Given the description of an element on the screen output the (x, y) to click on. 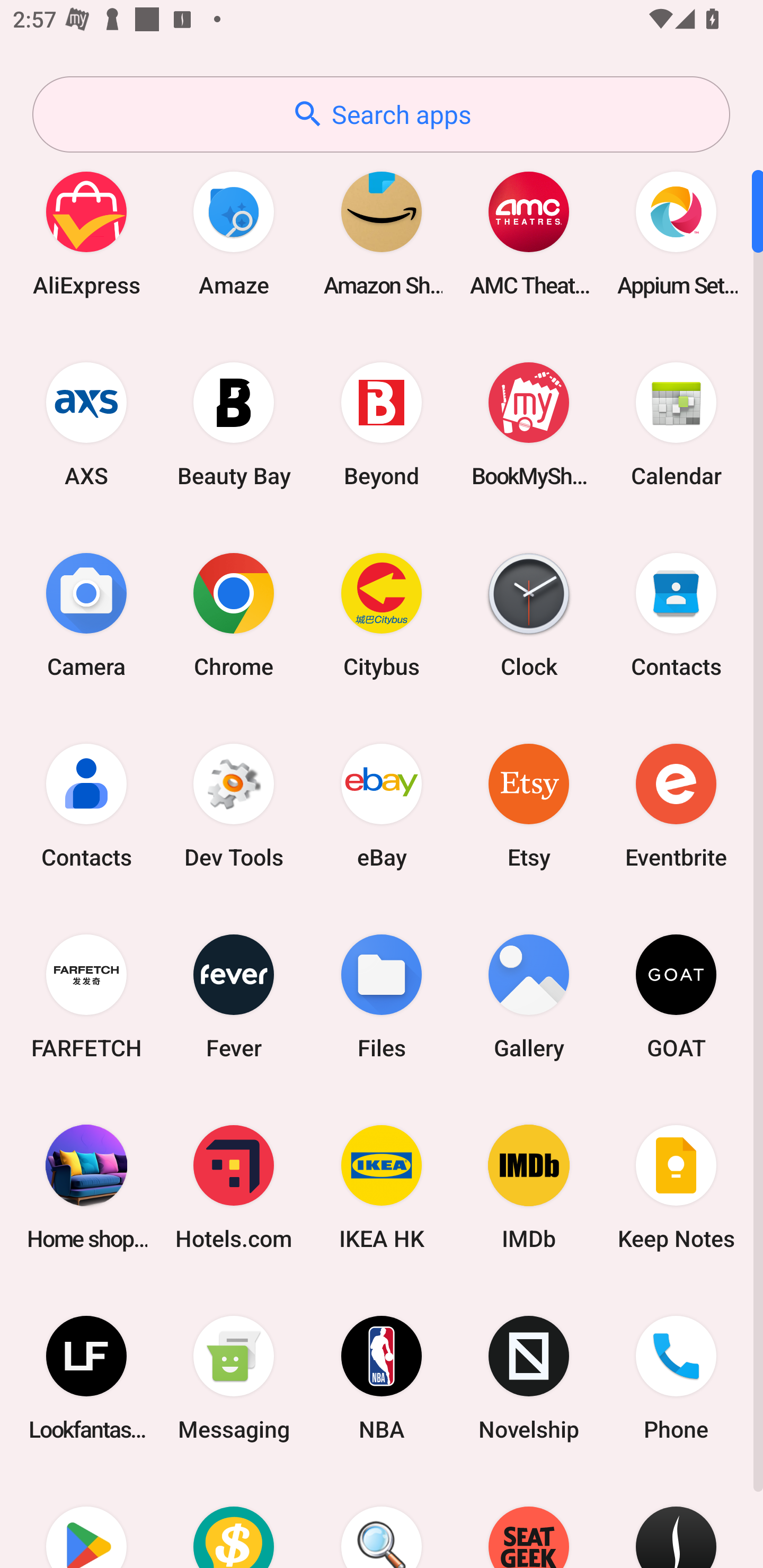
  Search apps (381, 114)
AliExpress (86, 233)
Amaze (233, 233)
Amazon Shopping (381, 233)
AMC Theatres (528, 233)
Appium Settings (676, 233)
AXS (86, 424)
Beauty Bay (233, 424)
Beyond (381, 424)
BookMyShow (528, 424)
Calendar (676, 424)
Camera (86, 614)
Chrome (233, 614)
Citybus (381, 614)
Clock (528, 614)
Contacts (676, 614)
Contacts (86, 805)
Dev Tools (233, 805)
eBay (381, 805)
Etsy (528, 805)
Eventbrite (676, 805)
FARFETCH (86, 996)
Fever (233, 996)
Files (381, 996)
Gallery (528, 996)
GOAT (676, 996)
Home shopping (86, 1186)
Hotels.com (233, 1186)
IKEA HK (381, 1186)
IMDb (528, 1186)
Keep Notes (676, 1186)
Lookfantastic (86, 1377)
Messaging (233, 1377)
NBA (381, 1377)
Novelship (528, 1377)
Phone (676, 1377)
Play Store (86, 1520)
Price (233, 1520)
Search (381, 1520)
SeatGeek (528, 1520)
Sephora (676, 1520)
